Given the description of an element on the screen output the (x, y) to click on. 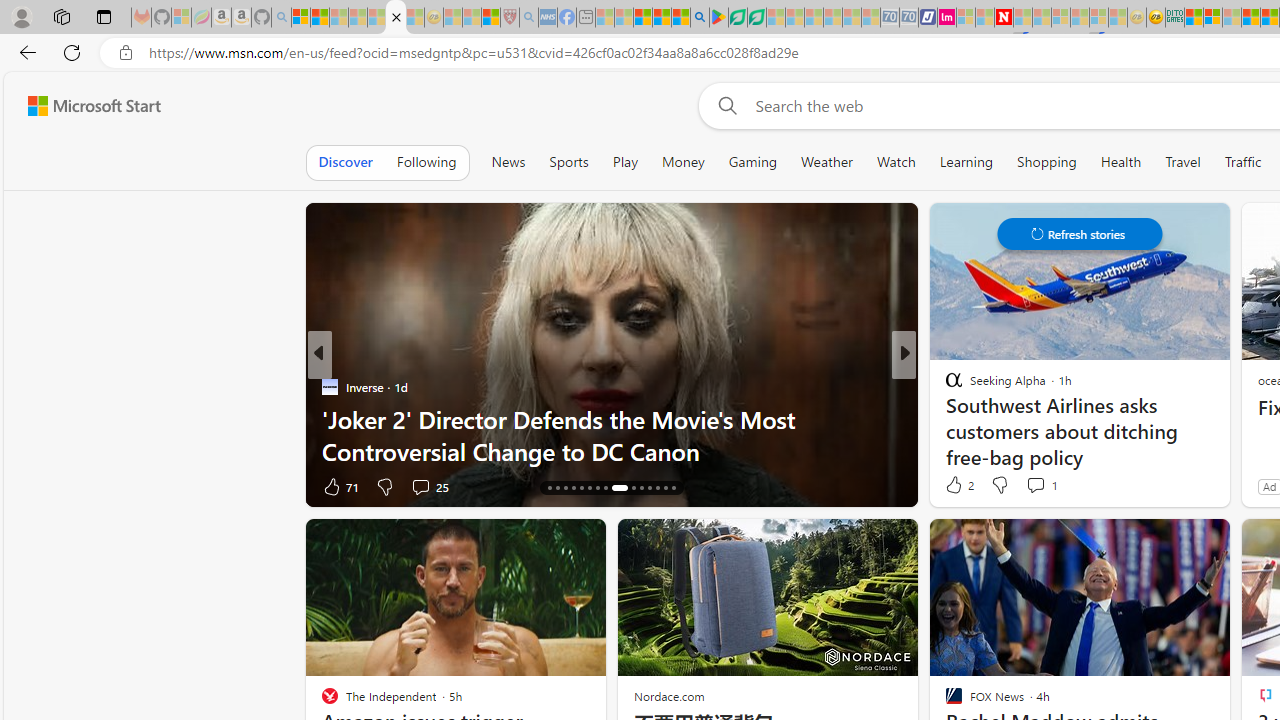
View comments 3 Comment (1036, 485)
